Given the description of an element on the screen output the (x, y) to click on. 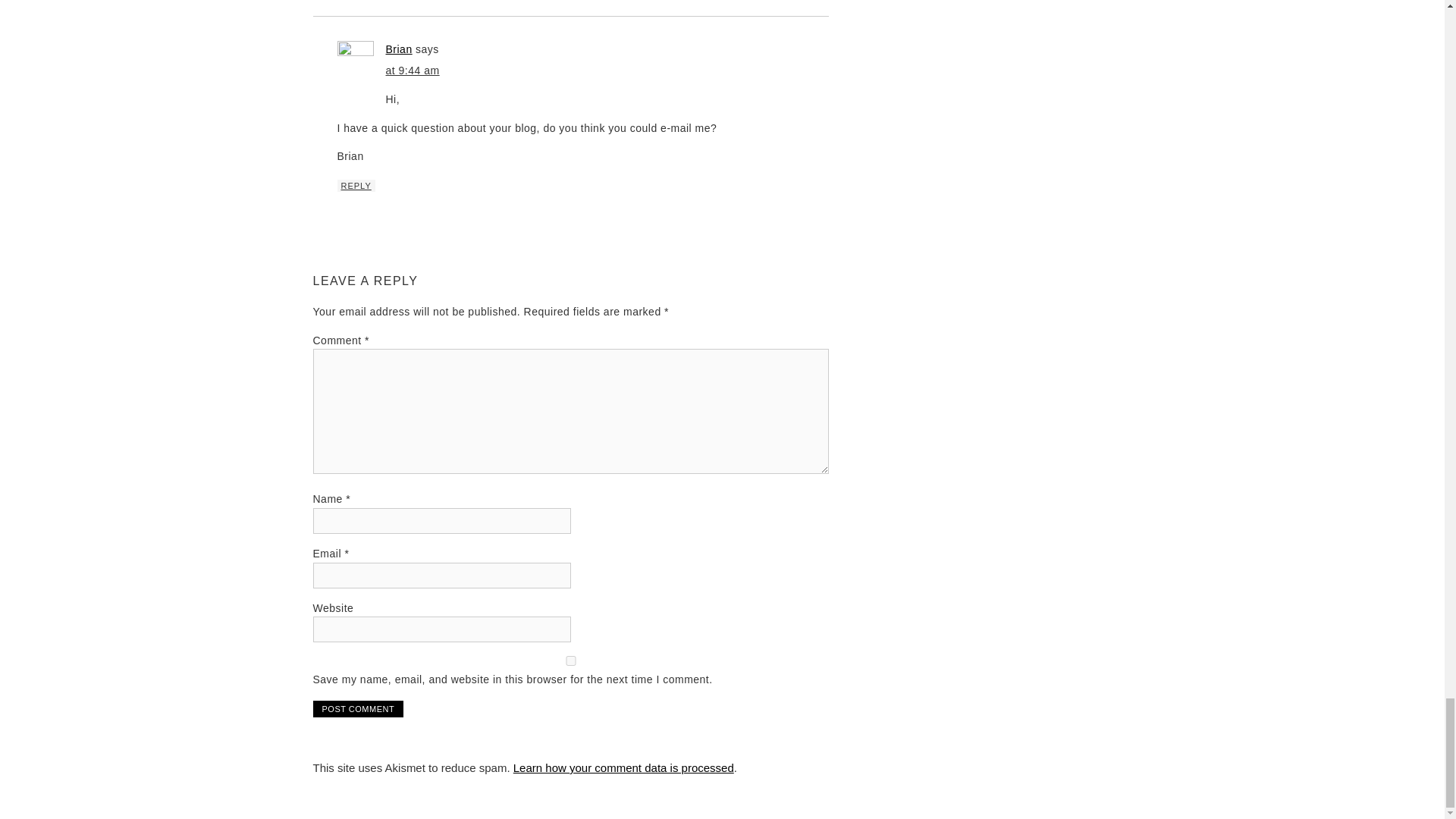
yes (570, 660)
Post Comment (358, 709)
